Given the description of an element on the screen output the (x, y) to click on. 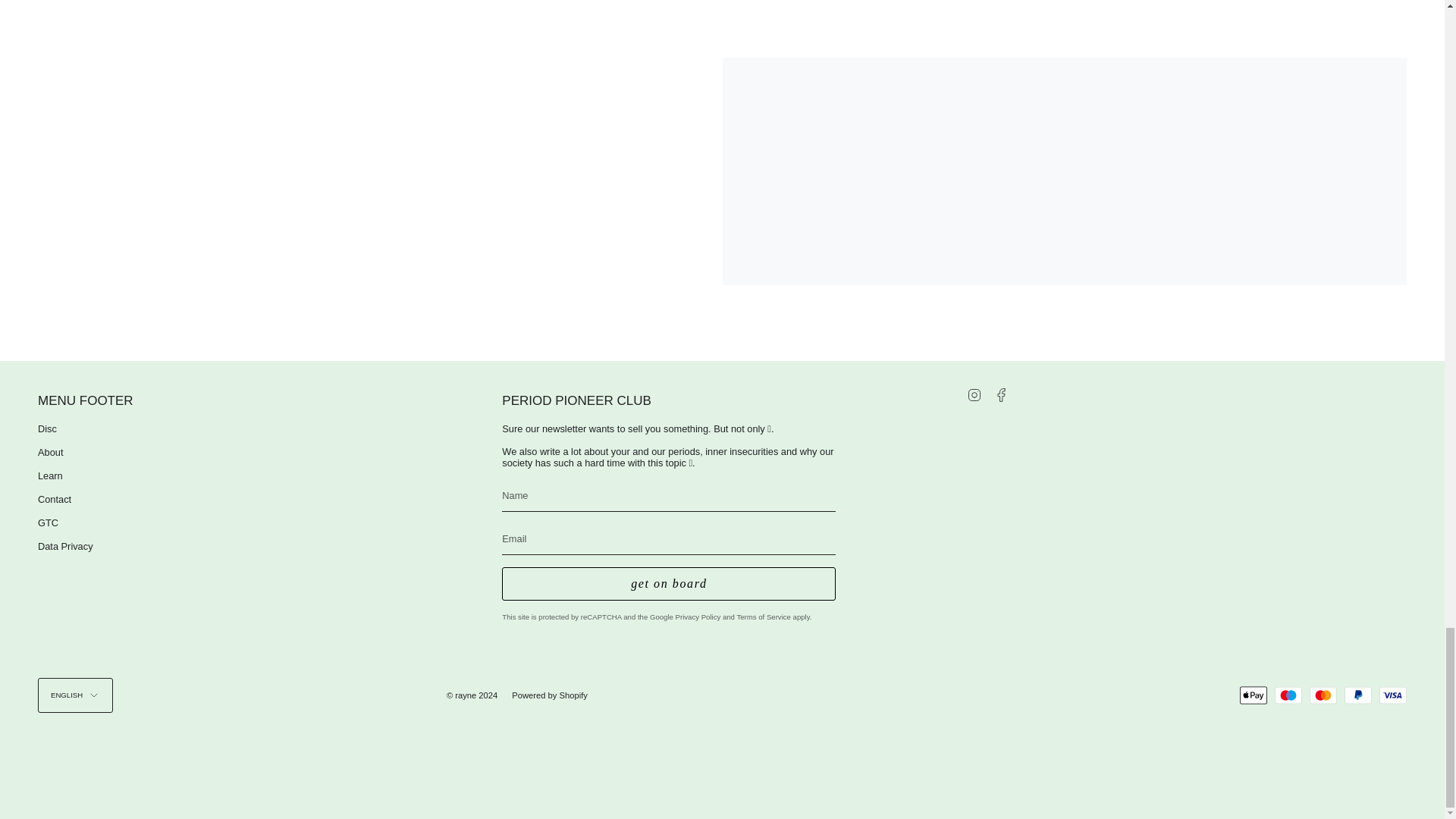
rayne on Facebook (1001, 393)
rayne on Instagram (973, 393)
